Given the description of an element on the screen output the (x, y) to click on. 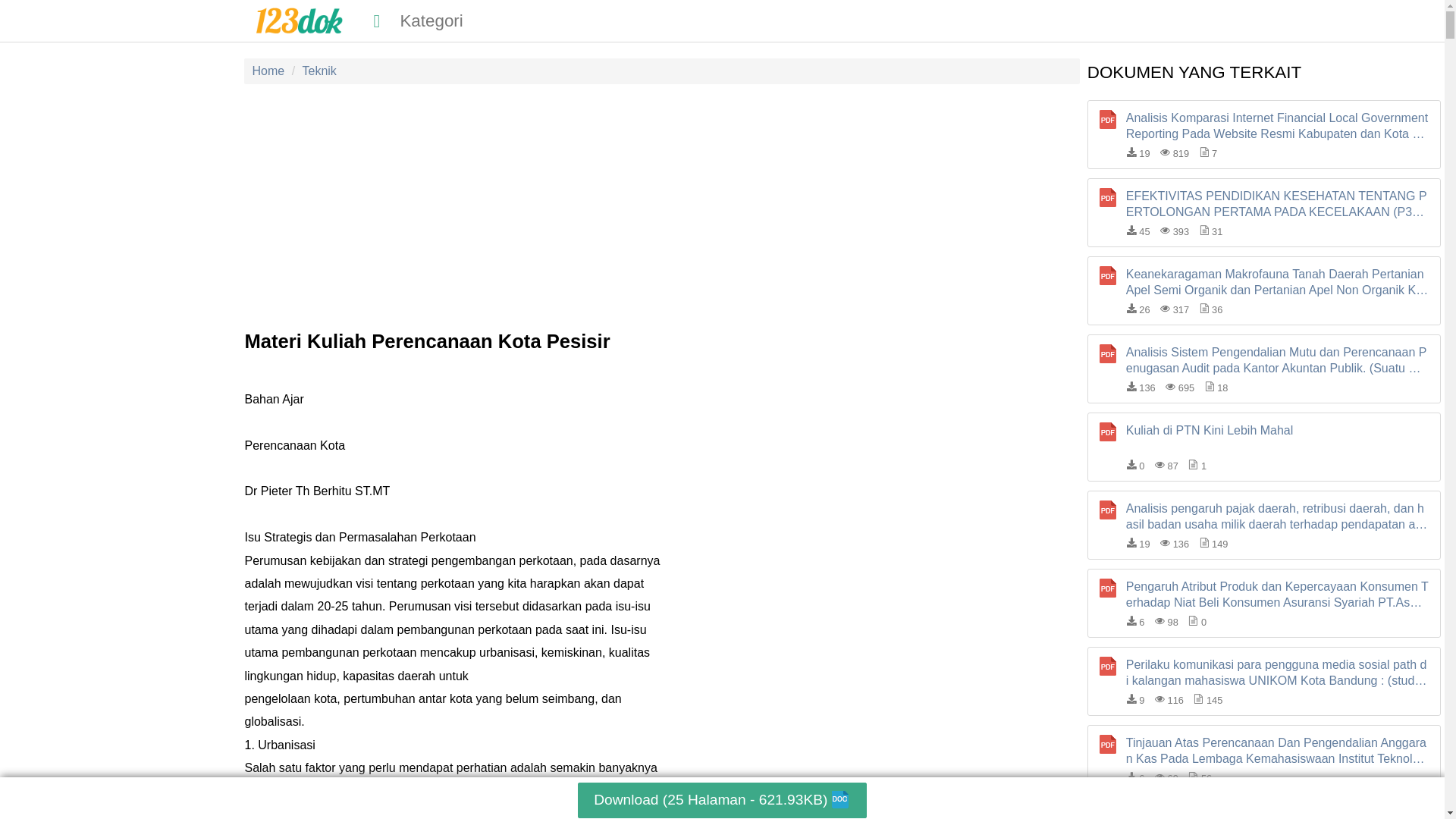
Advertisement Element type: hover (661, 206)
Kuliah di PTN Kini Lebih Mahal
0 87 1 Element type: text (1263, 446)
Download (25 Halaman - 621.93KB) Element type: text (721, 797)
Teknik Element type: text (319, 70)
Home Element type: hover (299, 22)
Home Element type: text (267, 70)
Download (25 Halaman - 621.93KB) Element type: text (721, 800)
